Given the description of an element on the screen output the (x, y) to click on. 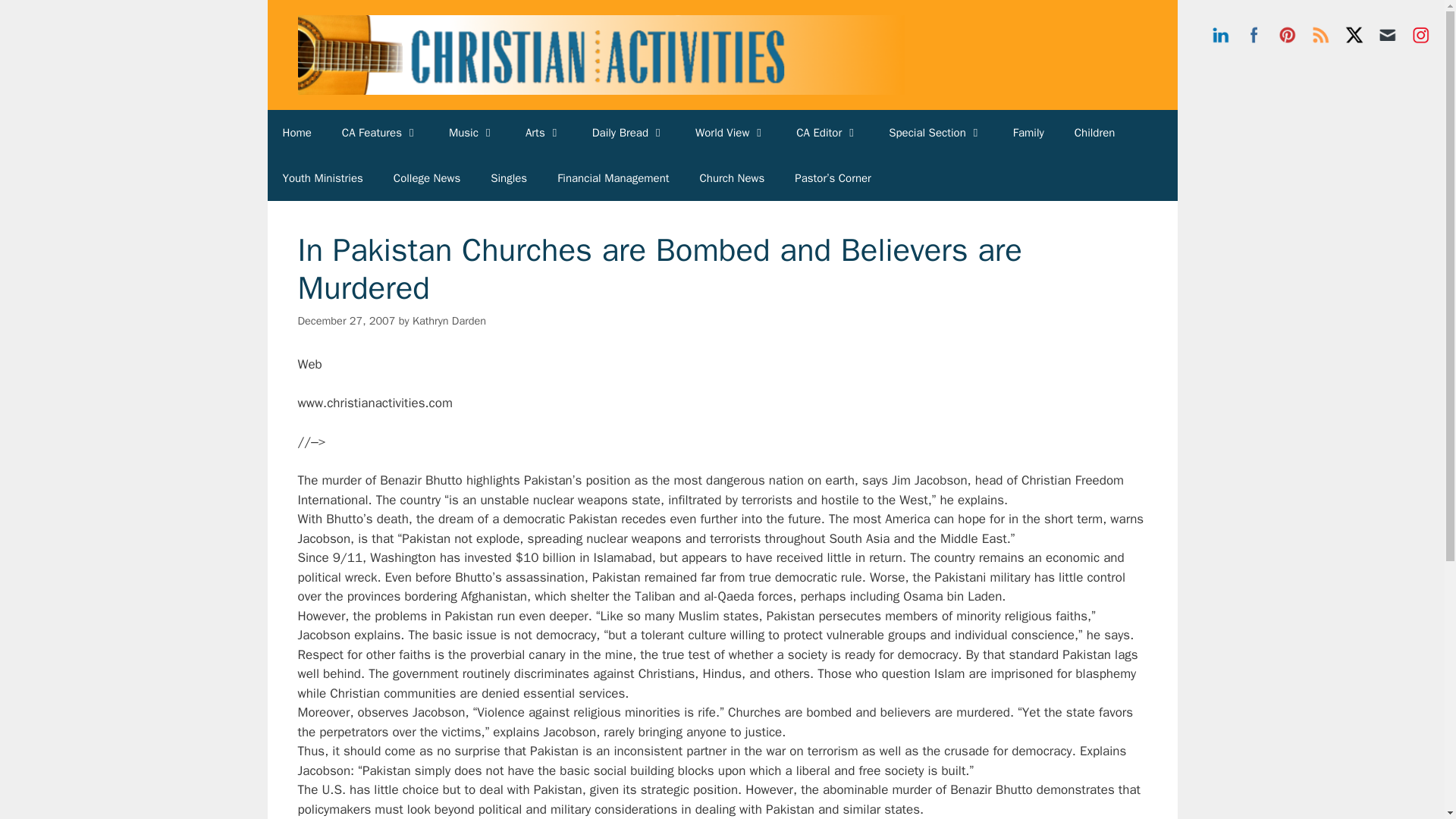
Daily Bread (627, 132)
Special Section (935, 132)
Singles (508, 177)
Home (296, 132)
Youth Ministries (321, 177)
Family (1028, 132)
Arts (543, 132)
World View (729, 132)
CA Editor (826, 132)
College News (427, 177)
Music (472, 132)
Children (1095, 132)
CA Features (379, 132)
View all posts by Kathryn Darden (449, 320)
